Given the description of an element on the screen output the (x, y) to click on. 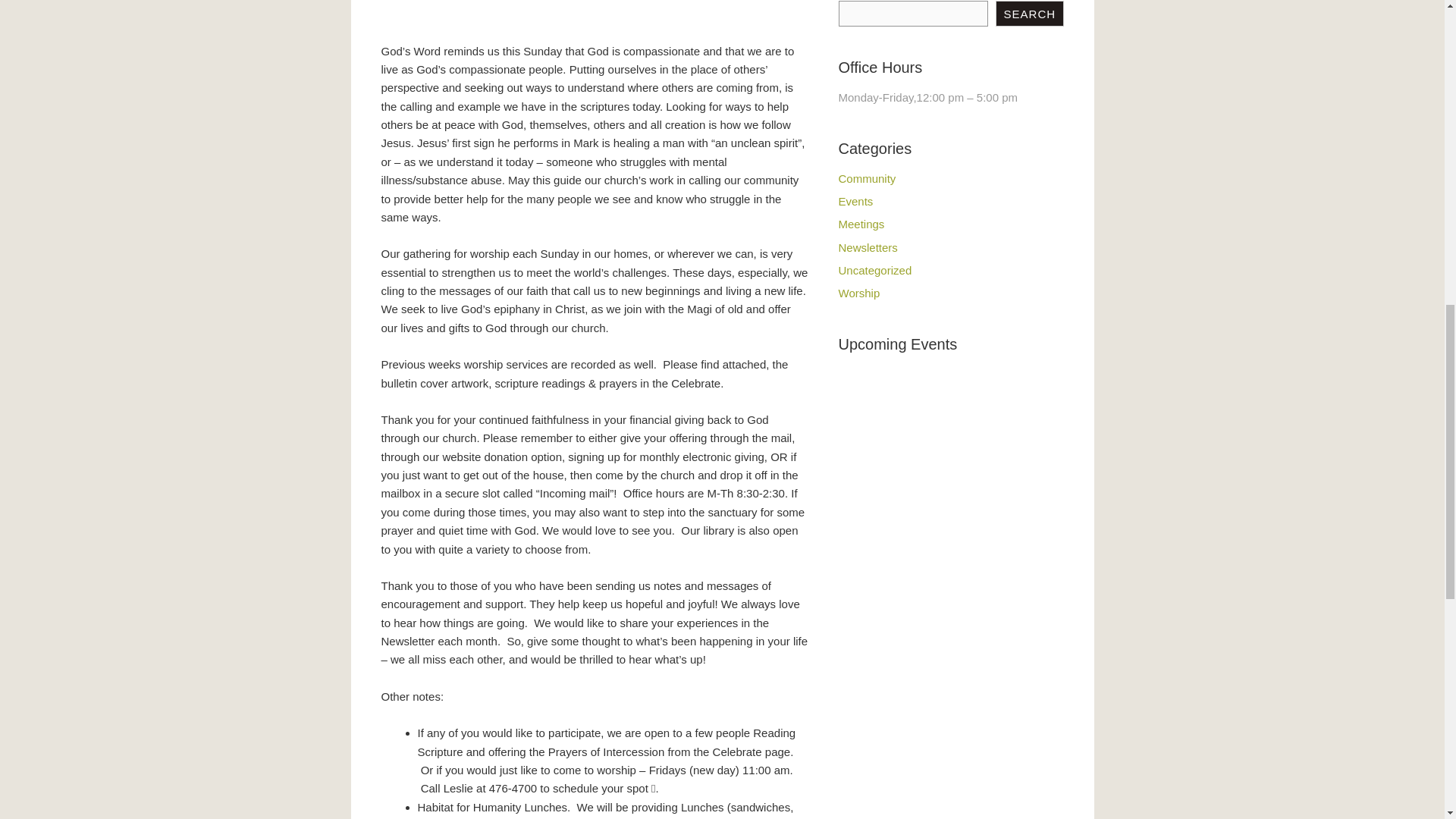
SEARCH (1028, 13)
Meetings (861, 223)
Events (855, 201)
Community (867, 178)
Worship (859, 292)
Uncategorized (875, 269)
Newsletters (868, 246)
